Given the description of an element on the screen output the (x, y) to click on. 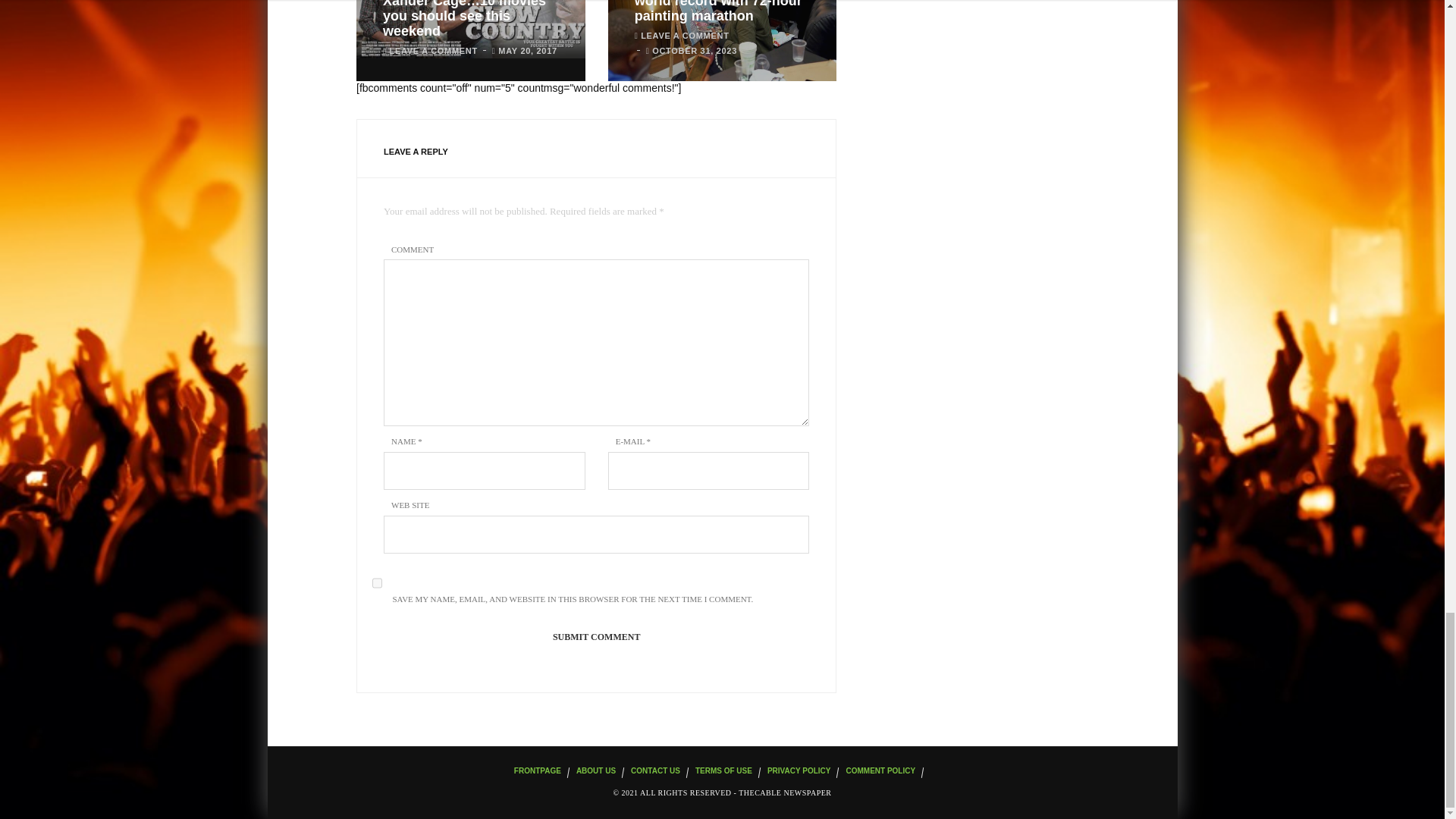
Submit Comment (596, 637)
